Given the description of an element on the screen output the (x, y) to click on. 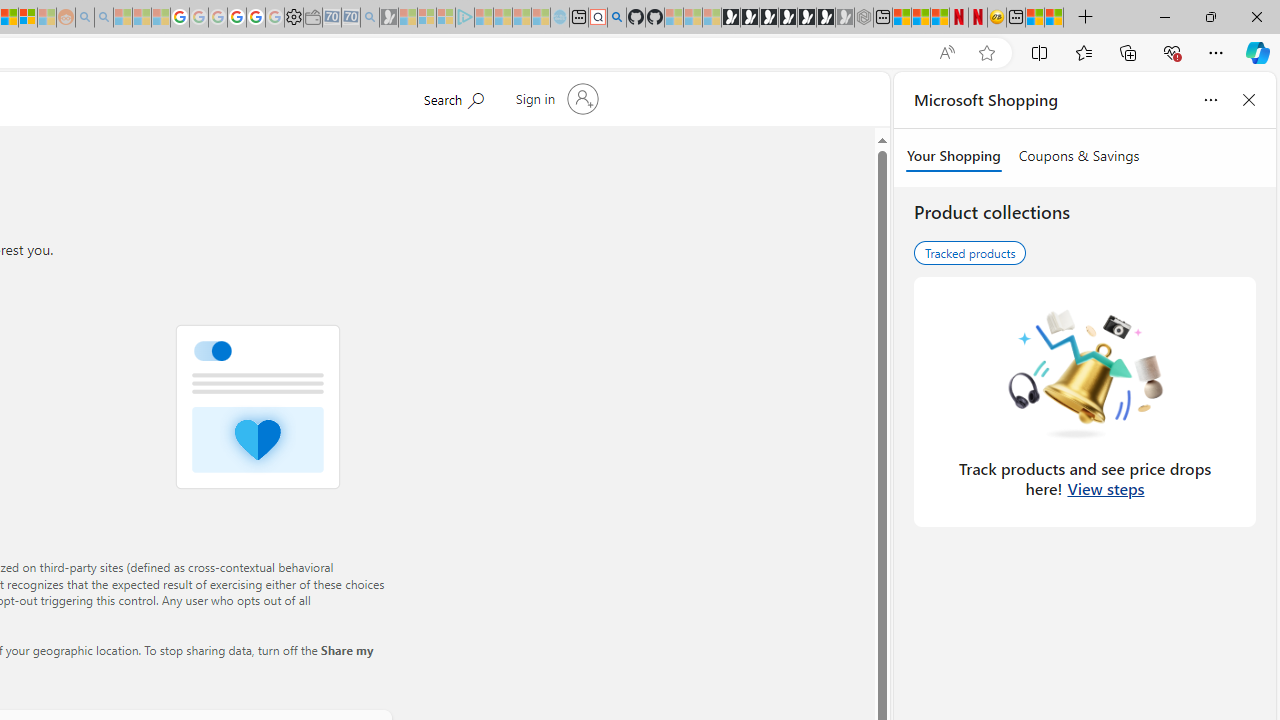
Wildlife - MSN (1035, 17)
